Given the description of an element on the screen output the (x, y) to click on. 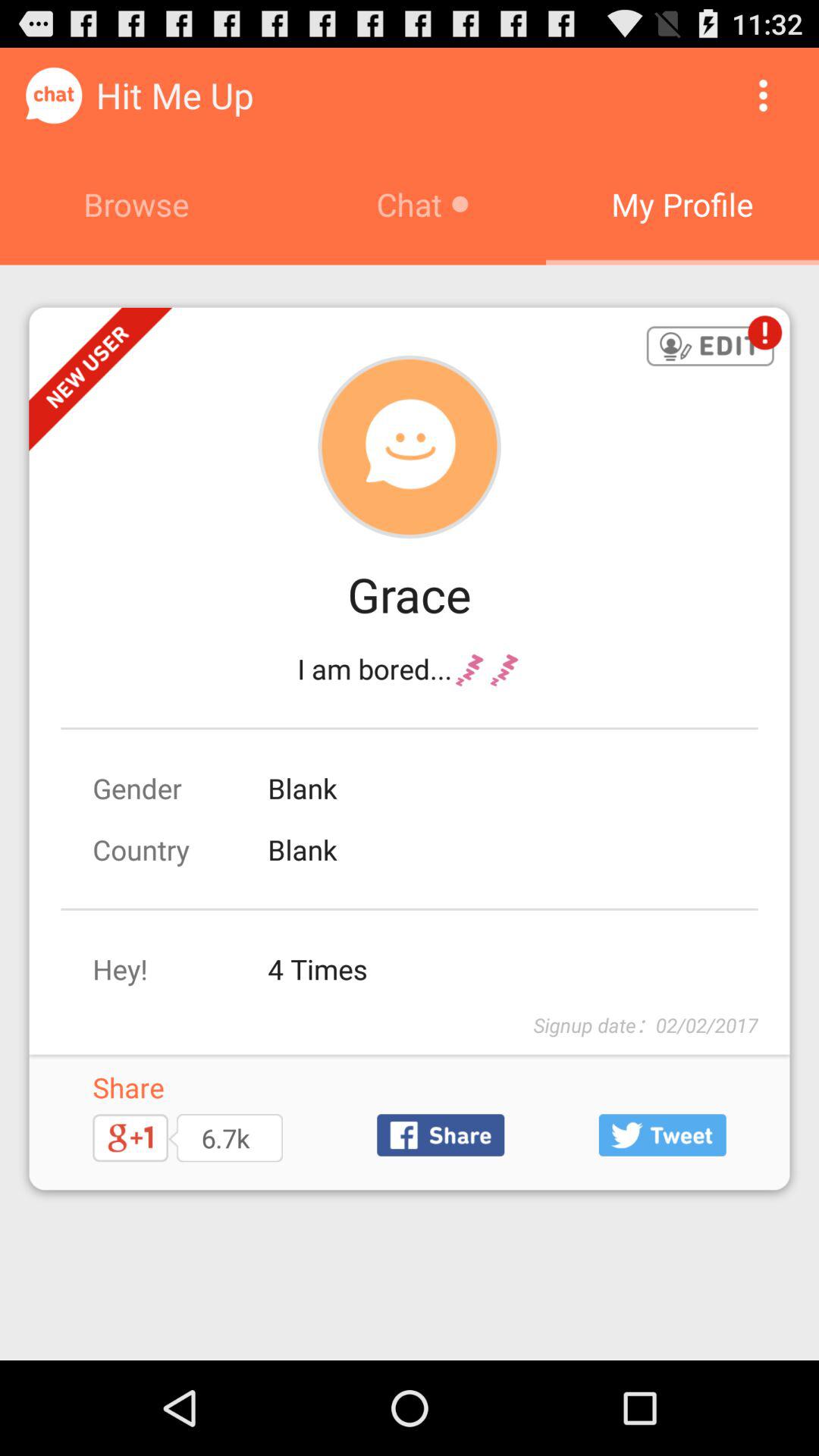
edit user button (709, 347)
